Given the description of an element on the screen output the (x, y) to click on. 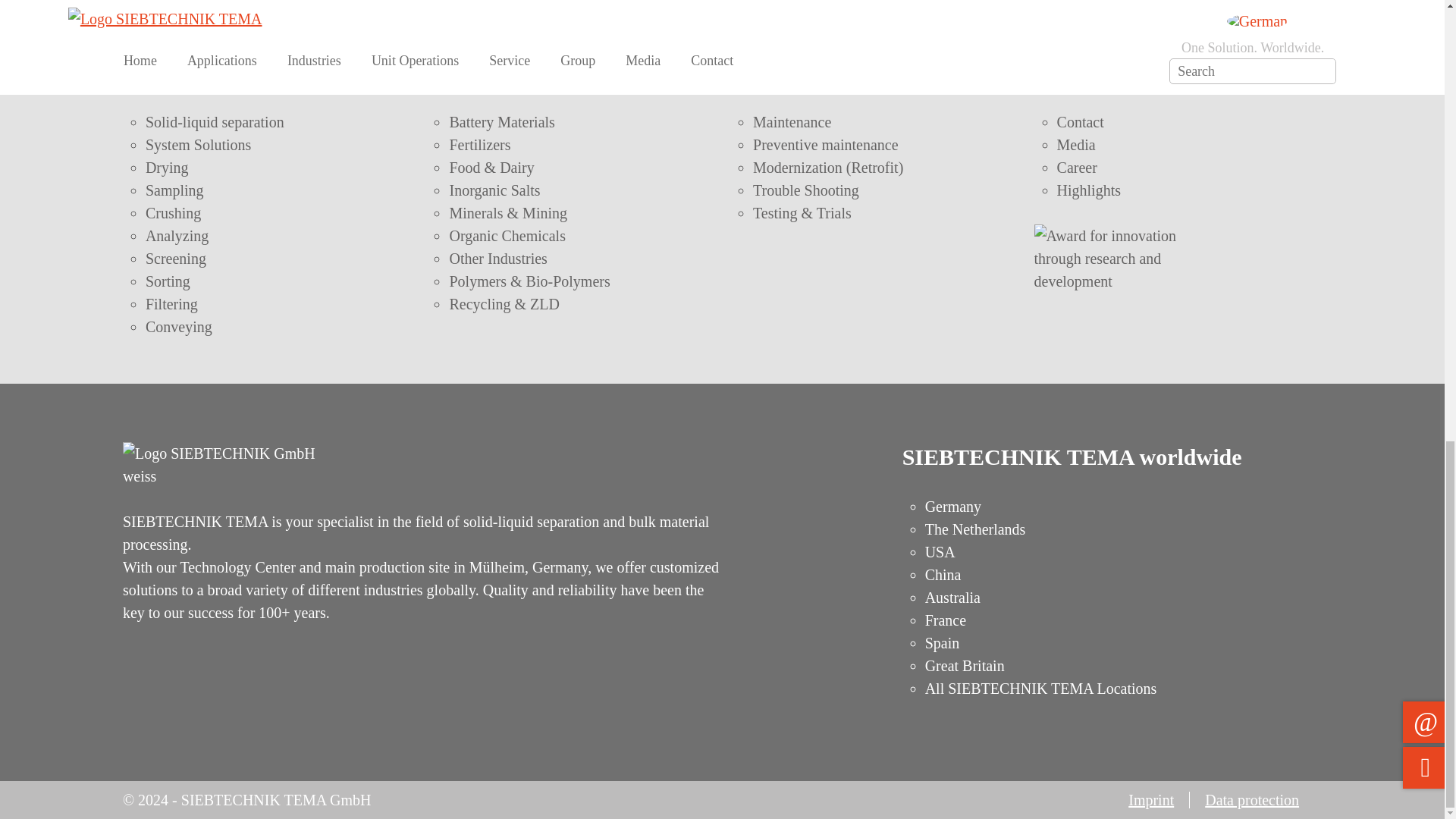
Battery Materials (501, 121)
Other Industries (497, 258)
Organic Chemicals (506, 235)
Inorganic Salts (494, 190)
Contact (1080, 121)
Media (1076, 144)
Fertilizers (479, 144)
